Given the description of an element on the screen output the (x, y) to click on. 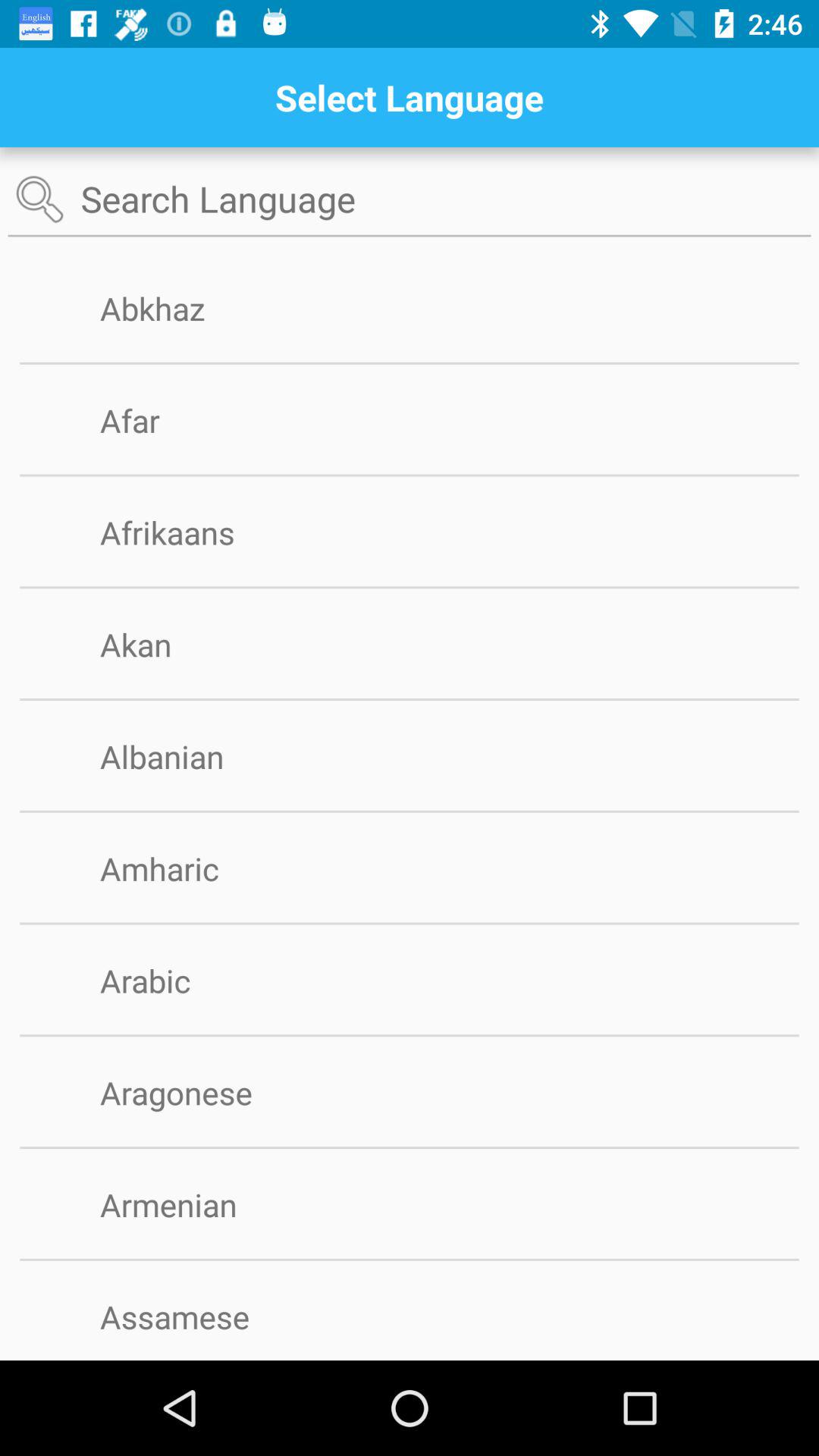
button search (409, 199)
